Given the description of an element on the screen output the (x, y) to click on. 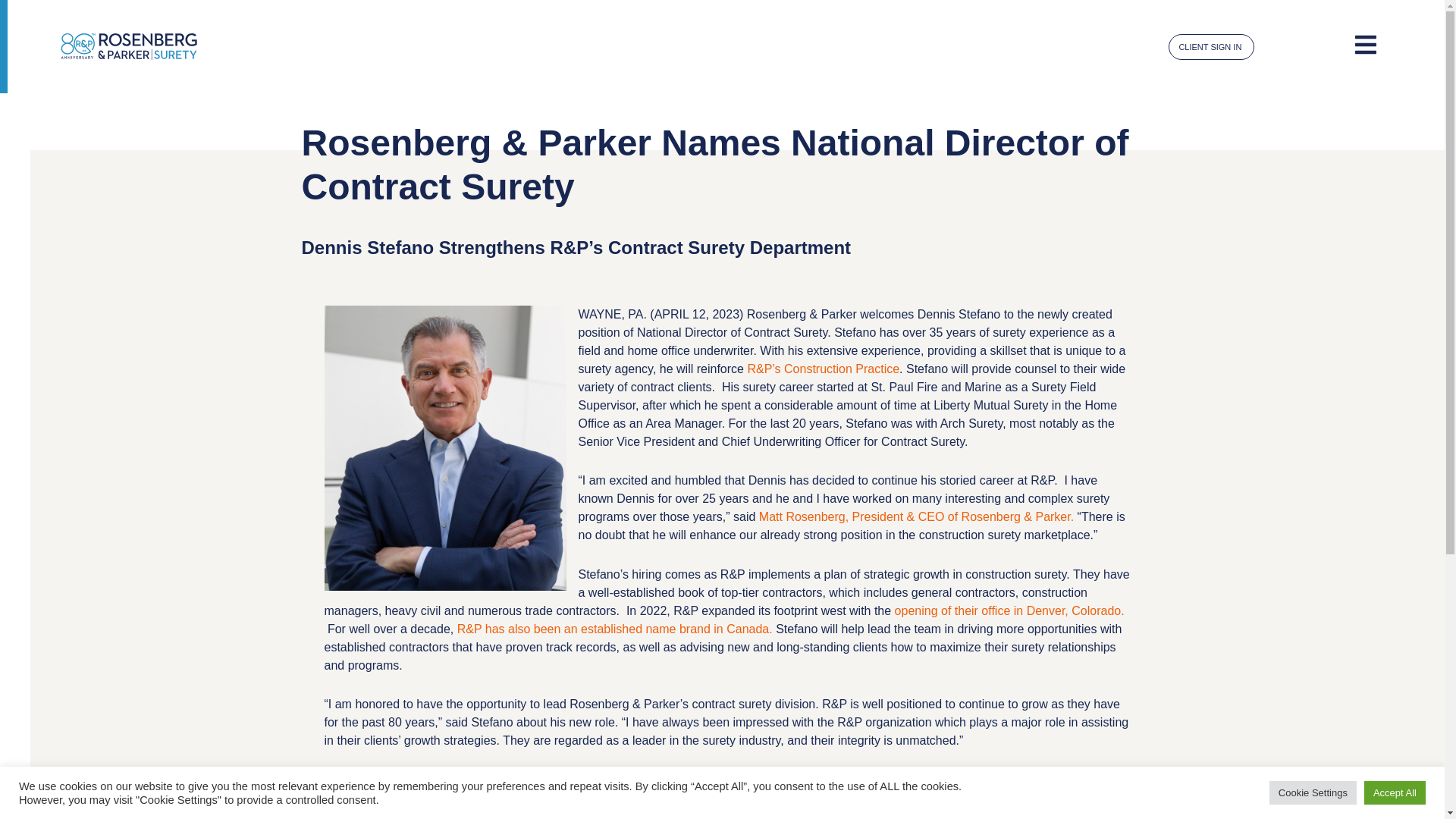
Accept All (1394, 792)
CLIENT SIGN IN (1211, 46)
Cookie Settings (1312, 792)
opening of their office in Denver, Colorado. (1009, 610)
